Given the description of an element on the screen output the (x, y) to click on. 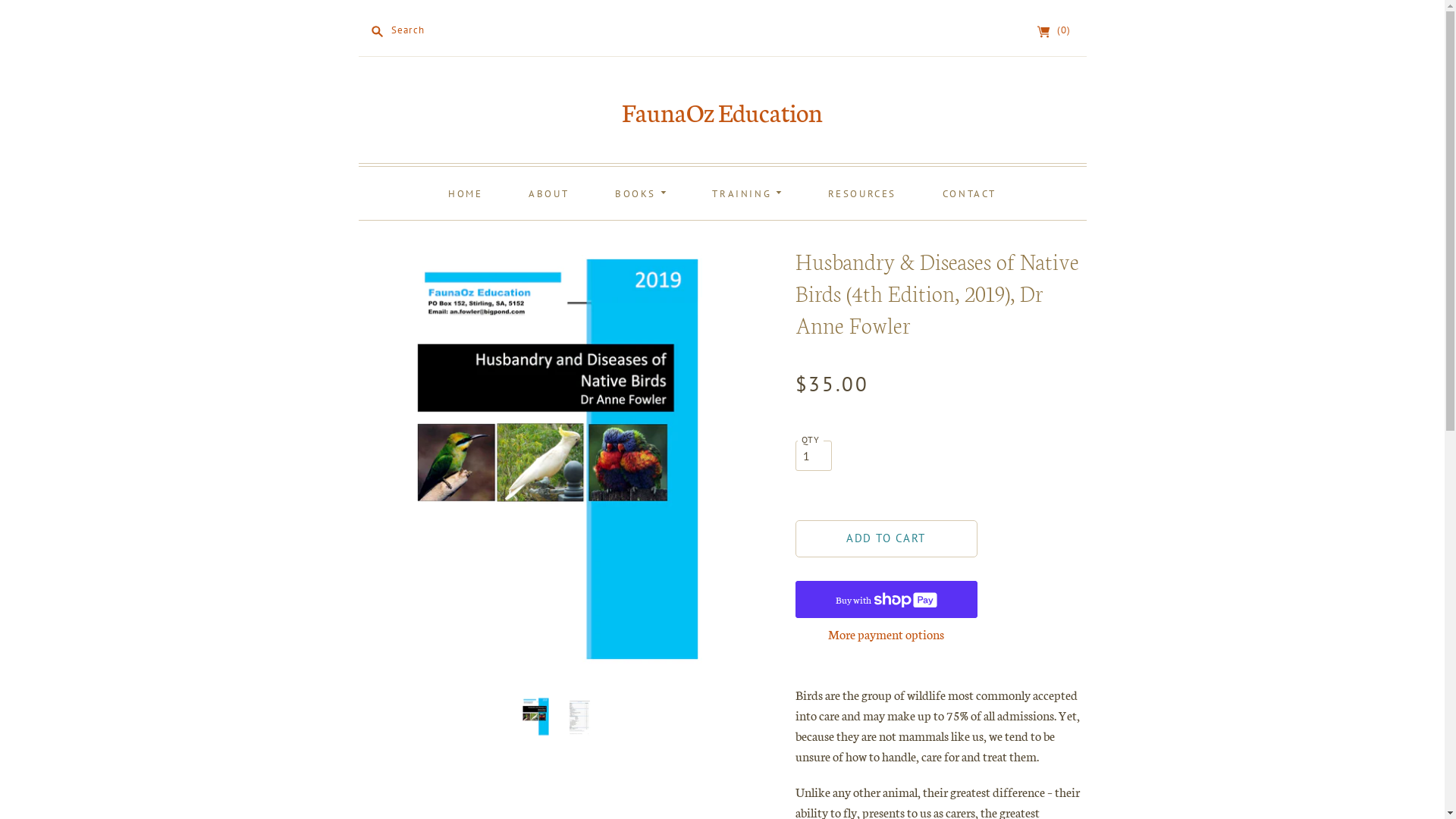
ABOUT Element type: text (548, 192)
TRAINING Element type: text (746, 192)
CONTACT Element type: text (969, 192)
RESOURCES Element type: text (862, 192)
BOOKS Element type: text (640, 192)
HOME Element type: text (465, 192)
More payment options Element type: text (885, 633)
FaunaOz Education Element type: text (721, 111)
Add to Cart Element type: text (885, 538)
(0) Element type: text (1054, 29)
